Given the description of an element on the screen output the (x, y) to click on. 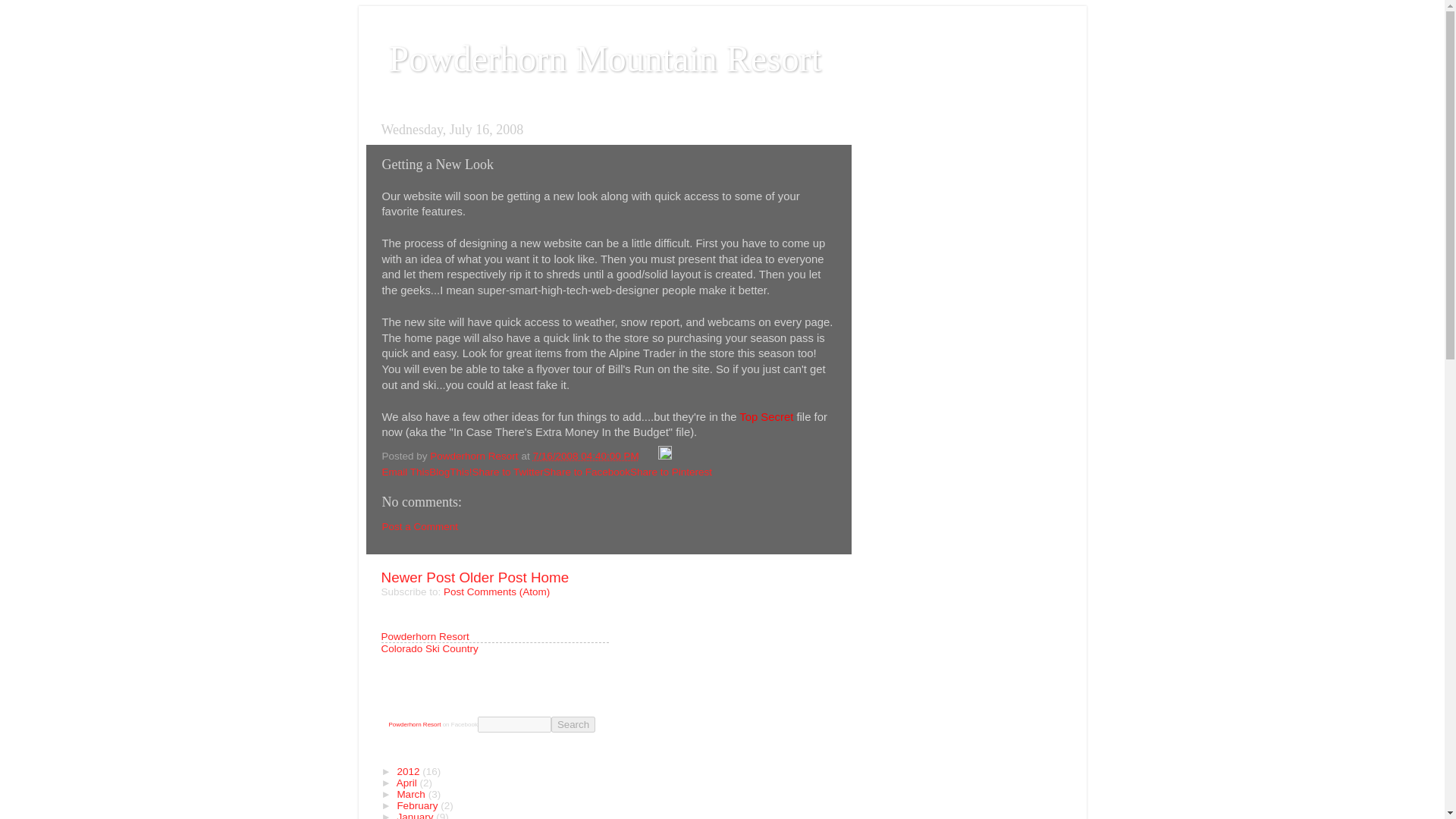
Home (550, 577)
permanent link (585, 455)
Email This (405, 471)
Newer Post (417, 577)
Share to Twitter (507, 471)
BlogThis! (450, 471)
Share to Twitter (507, 471)
January (415, 815)
search (514, 724)
Colorado Ski Country (428, 648)
Share to Facebook (586, 471)
Powderhorn Resort (424, 636)
Powderhorn Mountain Resort (604, 58)
BlogThis! (450, 471)
Email This (405, 471)
